Given the description of an element on the screen output the (x, y) to click on. 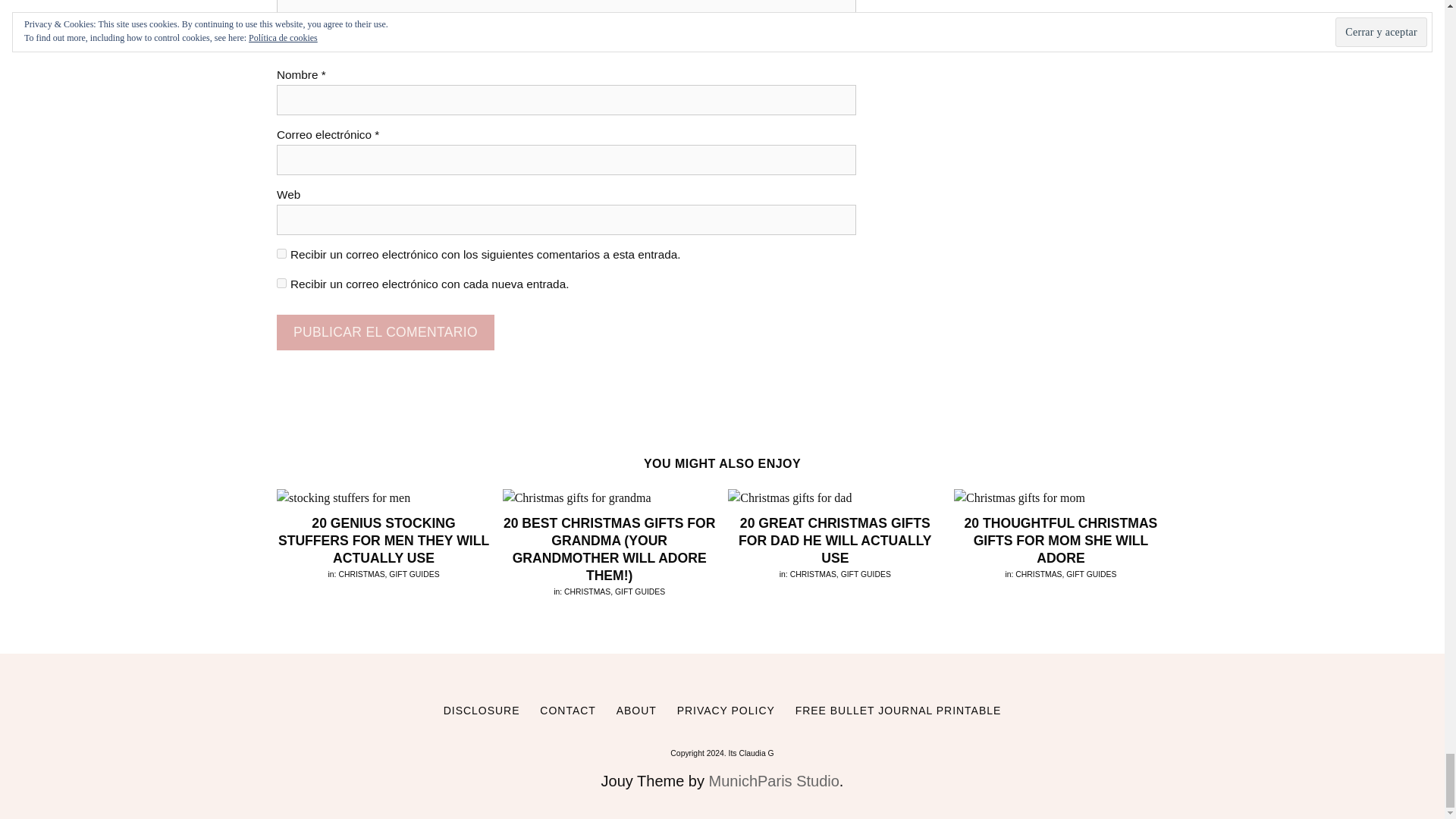
Publicar el comentario (385, 332)
subscribe (281, 283)
subscribe (281, 253)
